Given the description of an element on the screen output the (x, y) to click on. 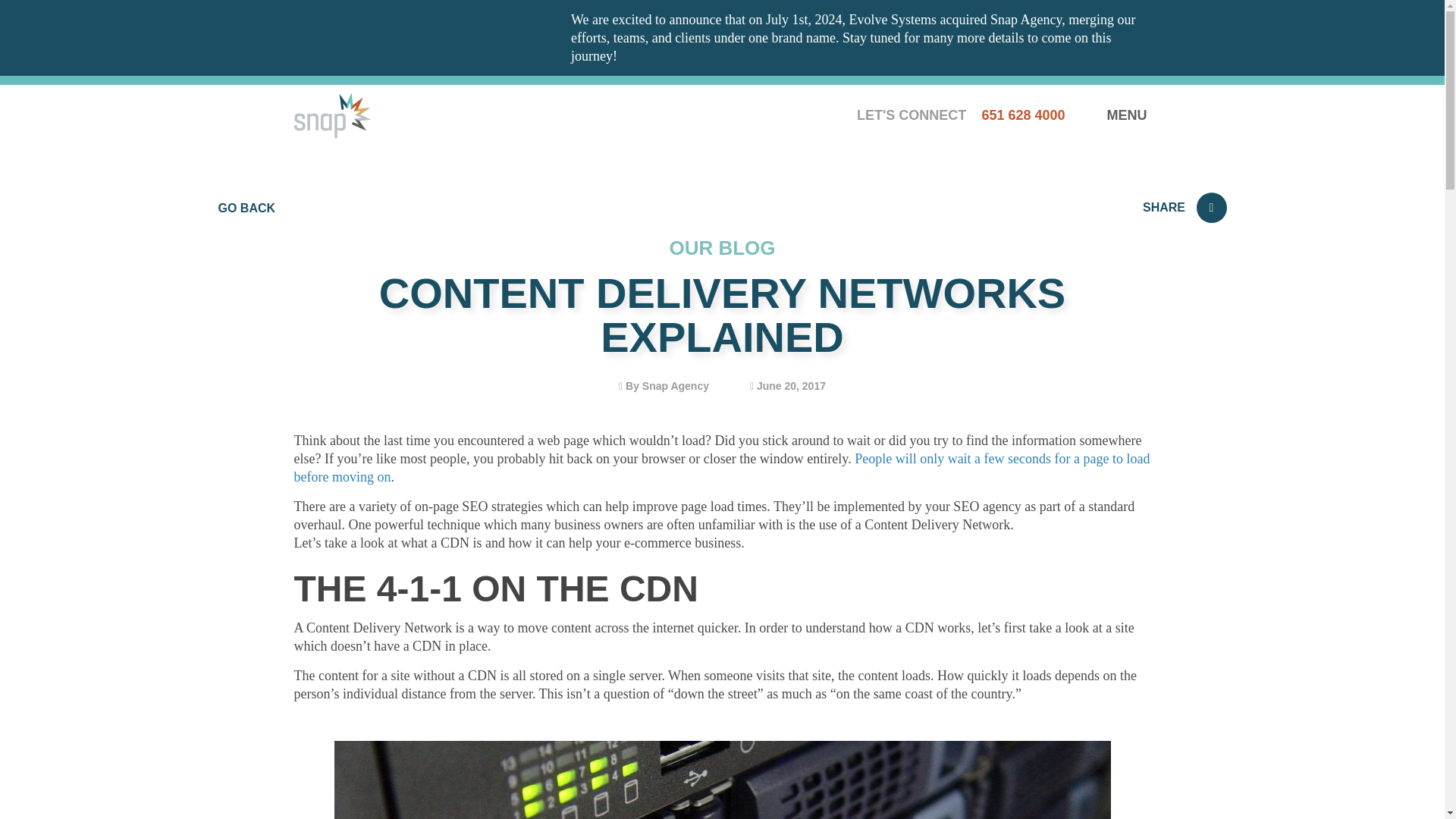
GO BACK (247, 207)
LET'S CONNECT (911, 114)
651 628 4000 (1024, 114)
SHARE (1183, 206)
MENU (1128, 114)
